Given the description of an element on the screen output the (x, y) to click on. 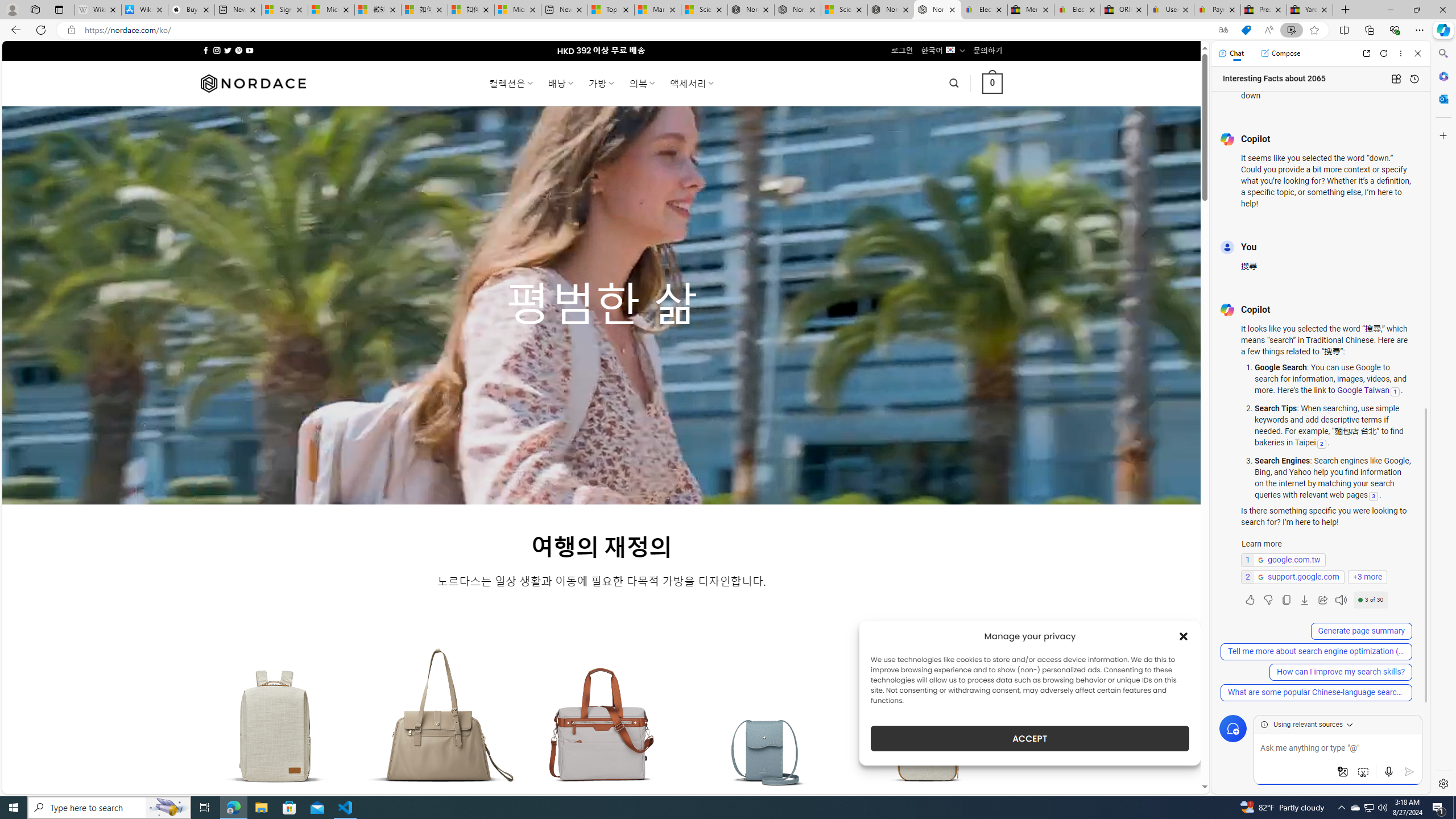
Follow on YouTube (249, 50)
Yard, Garden & Outdoor Living (1309, 9)
